Given the description of an element on the screen output the (x, y) to click on. 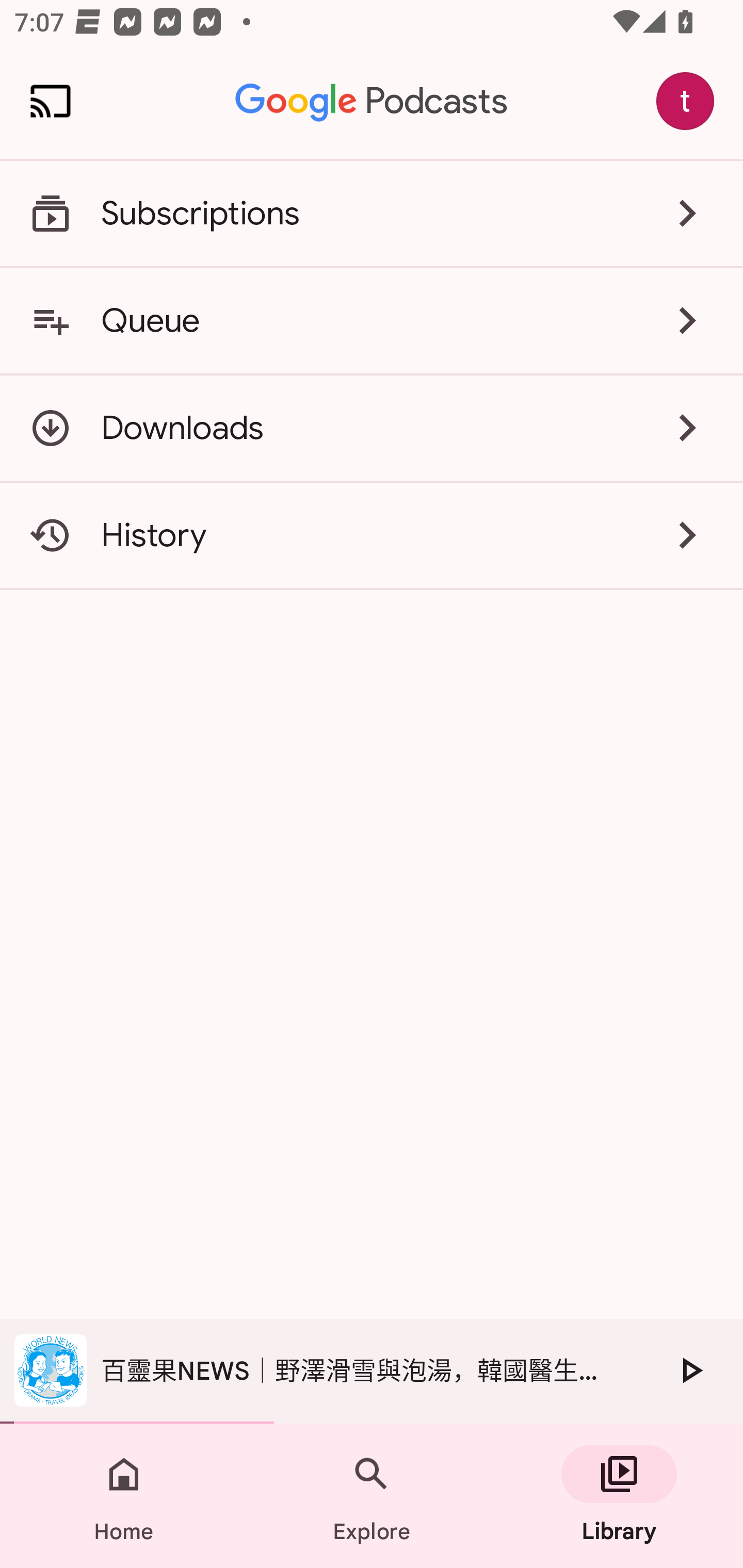
Cast. Disconnected (50, 101)
Subscriptions (371, 213)
Queue (371, 320)
Downloads (371, 427)
History (371, 535)
Play (690, 1370)
Home (123, 1495)
Explore (371, 1495)
